Given the description of an element on the screen output the (x, y) to click on. 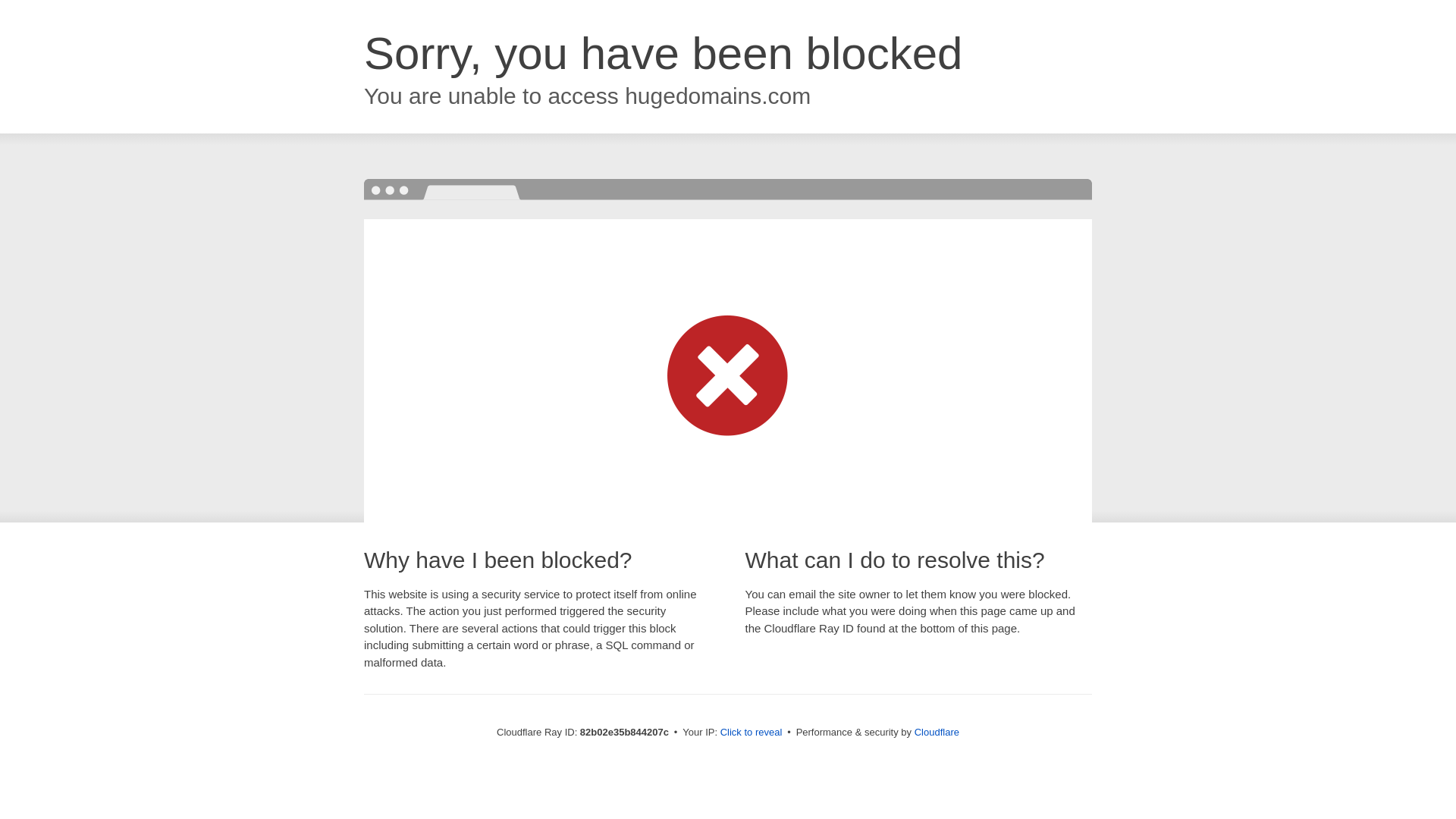
Cloudflare Element type: text (936, 731)
Click to reveal Element type: text (751, 732)
